Given the description of an element on the screen output the (x, y) to click on. 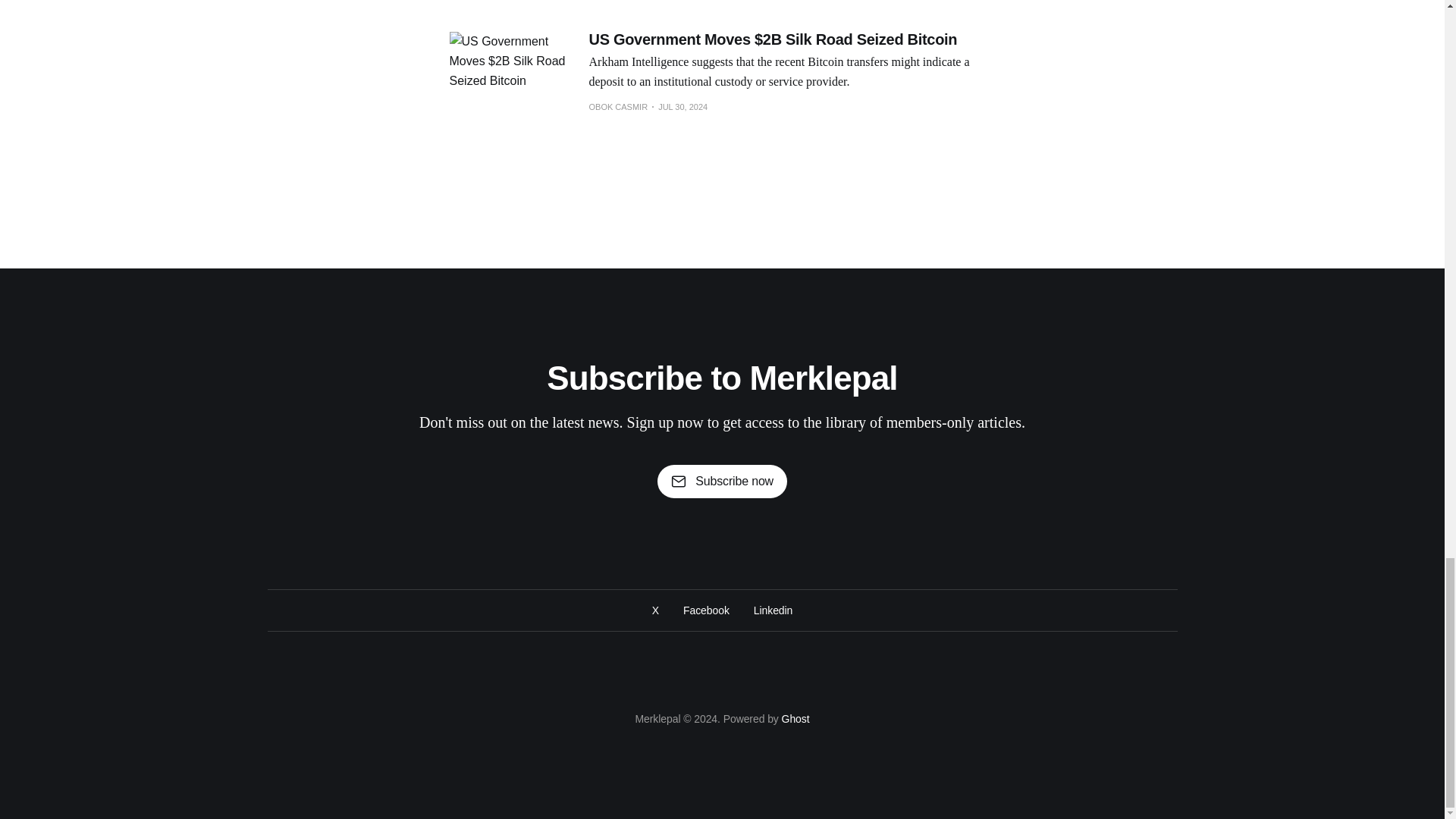
Ghost (795, 718)
Subscribe now (722, 481)
Facebook (705, 610)
Linkedin (773, 610)
